Given the description of an element on the screen output the (x, y) to click on. 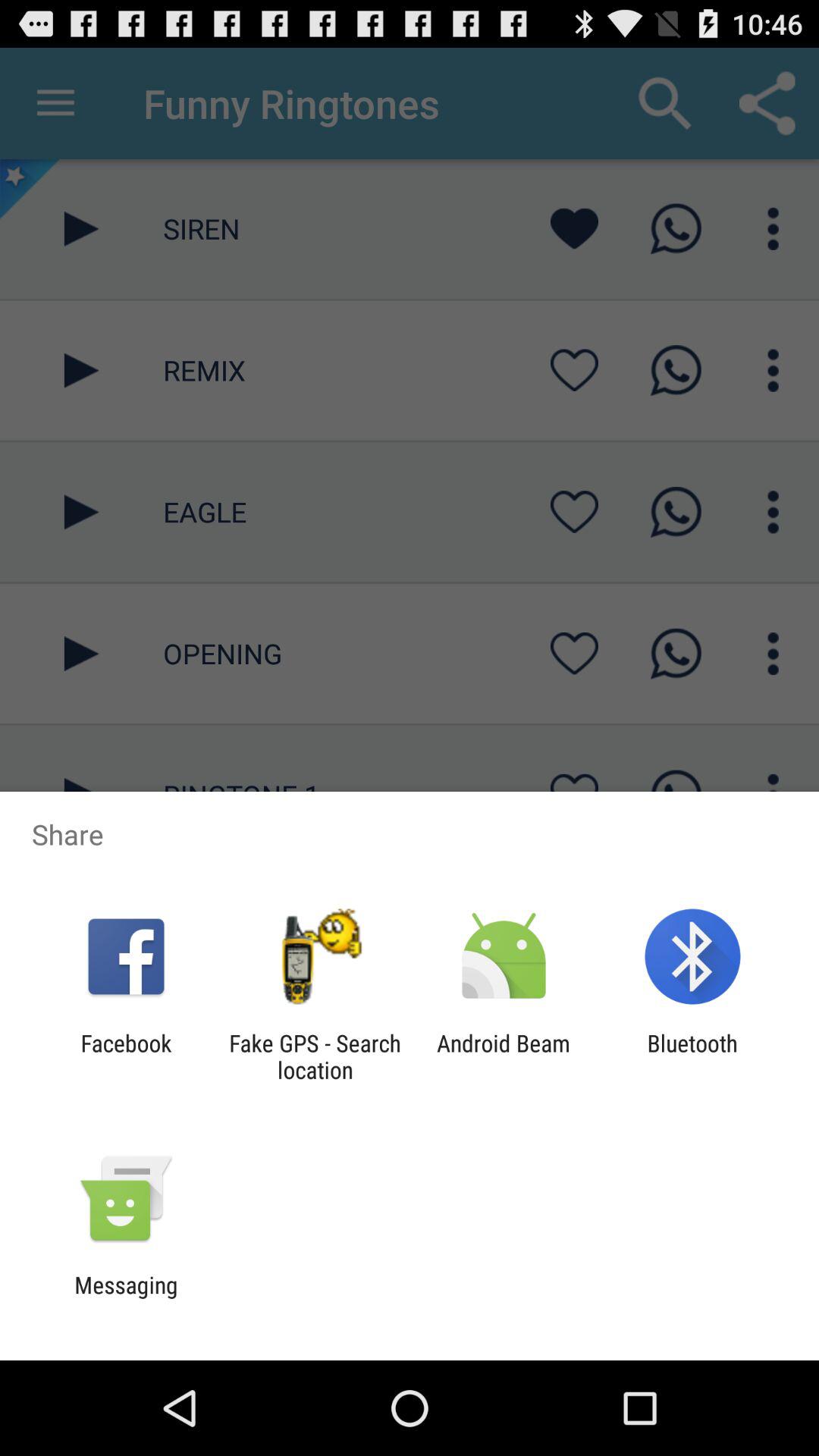
choose item next to the android beam item (692, 1056)
